Given the description of an element on the screen output the (x, y) to click on. 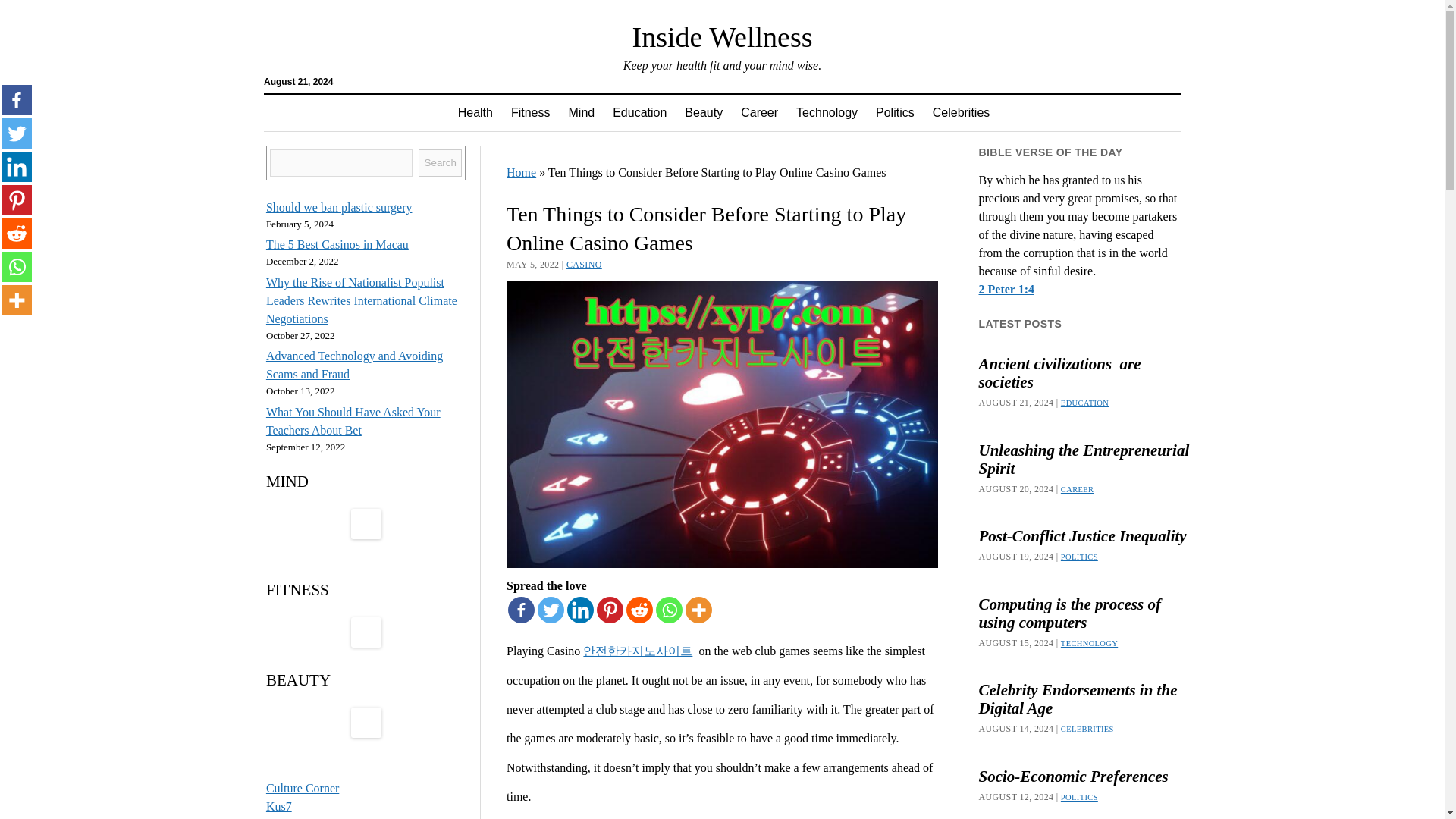
Career (759, 113)
What You Should Have Asked Your Teachers About Bet (353, 420)
The 5 Best Casinos in Macau (337, 244)
Advanced Technology and Avoiding Scams and Fraud (354, 364)
Pinterest (16, 200)
Technology (826, 113)
Inside Wellness (721, 37)
Reddit (639, 610)
Politics (894, 113)
Education (639, 113)
